Given the description of an element on the screen output the (x, y) to click on. 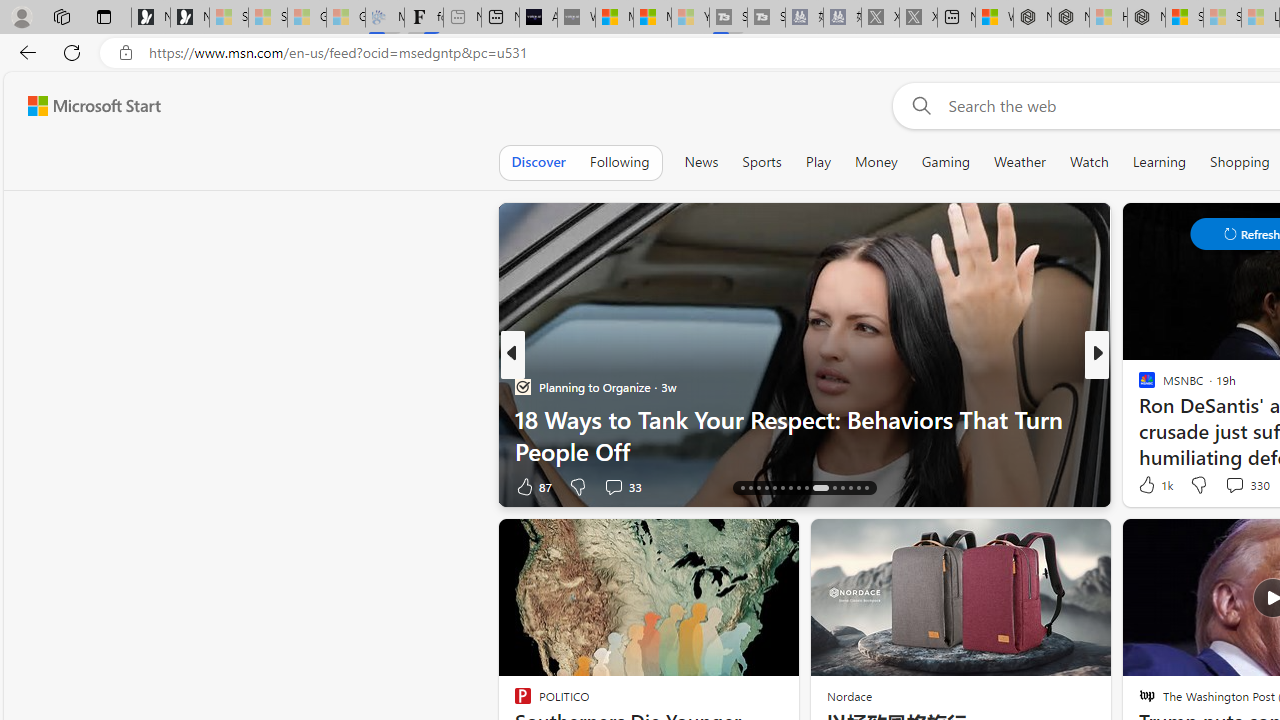
44 Like (1149, 486)
Nordace (848, 696)
Microsoft Start (651, 17)
Discover (538, 161)
View comments 330 Comment (1246, 484)
Dislike (1198, 484)
News (701, 162)
New tab - Sleeping (462, 17)
AutomationID: tab-20 (774, 487)
Play (818, 162)
AutomationID: tab-24 (806, 487)
View comments 1 Comment (1234, 486)
Gaming (945, 162)
Tab actions menu (104, 16)
